Given the description of an element on the screen output the (x, y) to click on. 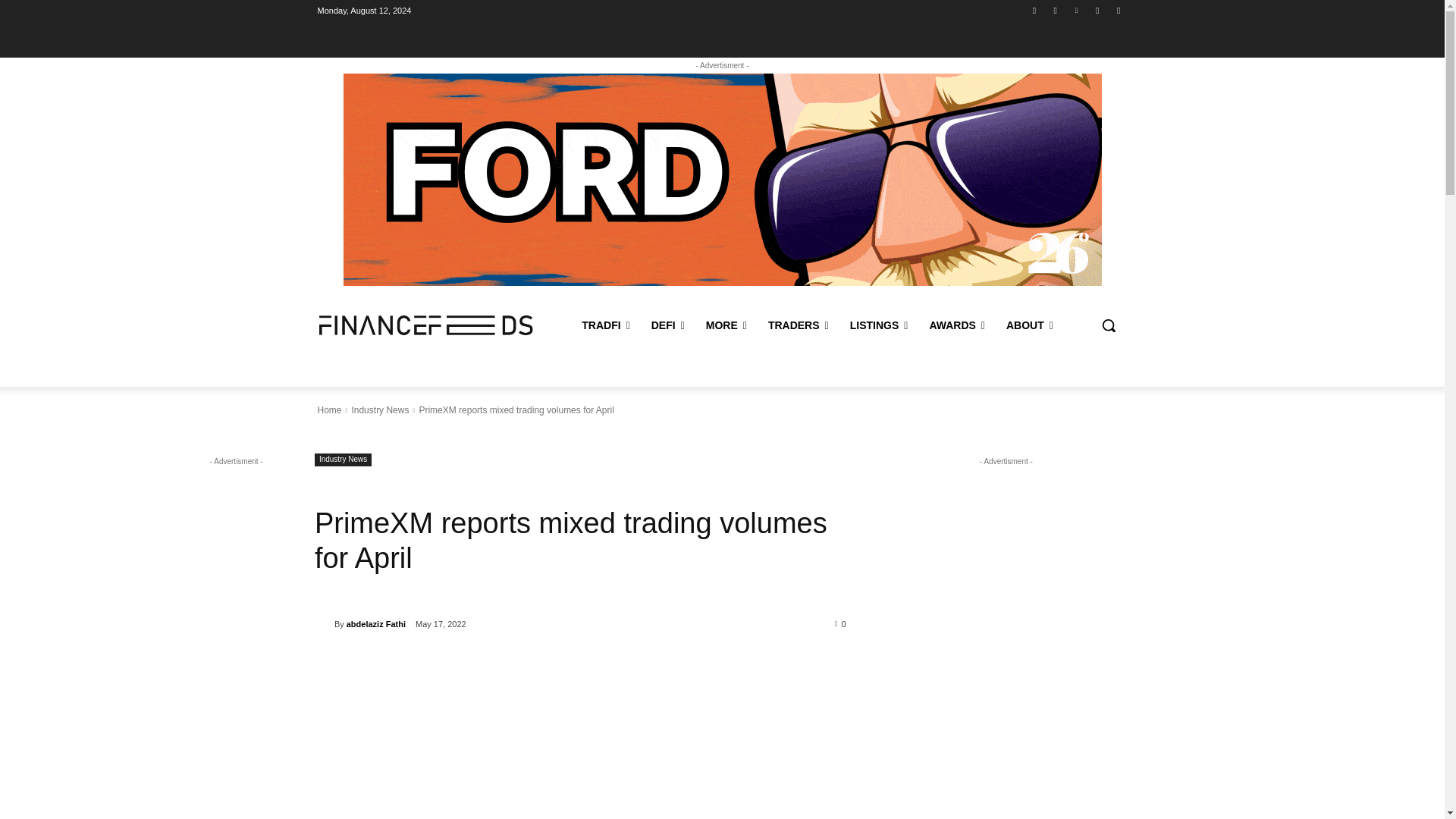
Rss (1097, 9)
Youtube (1055, 9)
Facebook (1034, 9)
Twitter (1117, 9)
View all posts in Industry News (379, 409)
Linkedin (1075, 9)
